Given the description of an element on the screen output the (x, y) to click on. 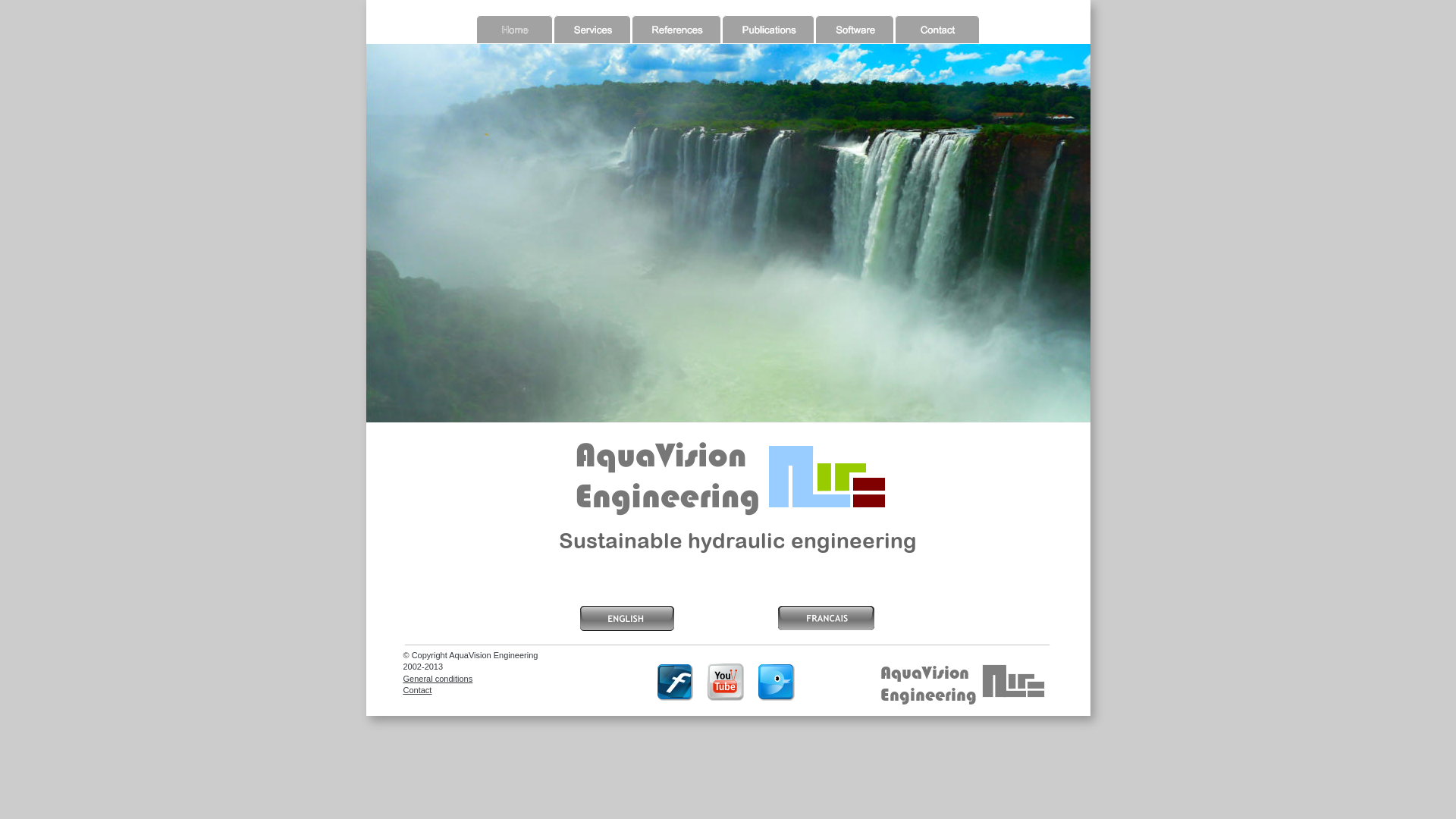
Contact Element type: text (417, 689)
General conditions Element type: text (438, 678)
